Given the description of an element on the screen output the (x, y) to click on. 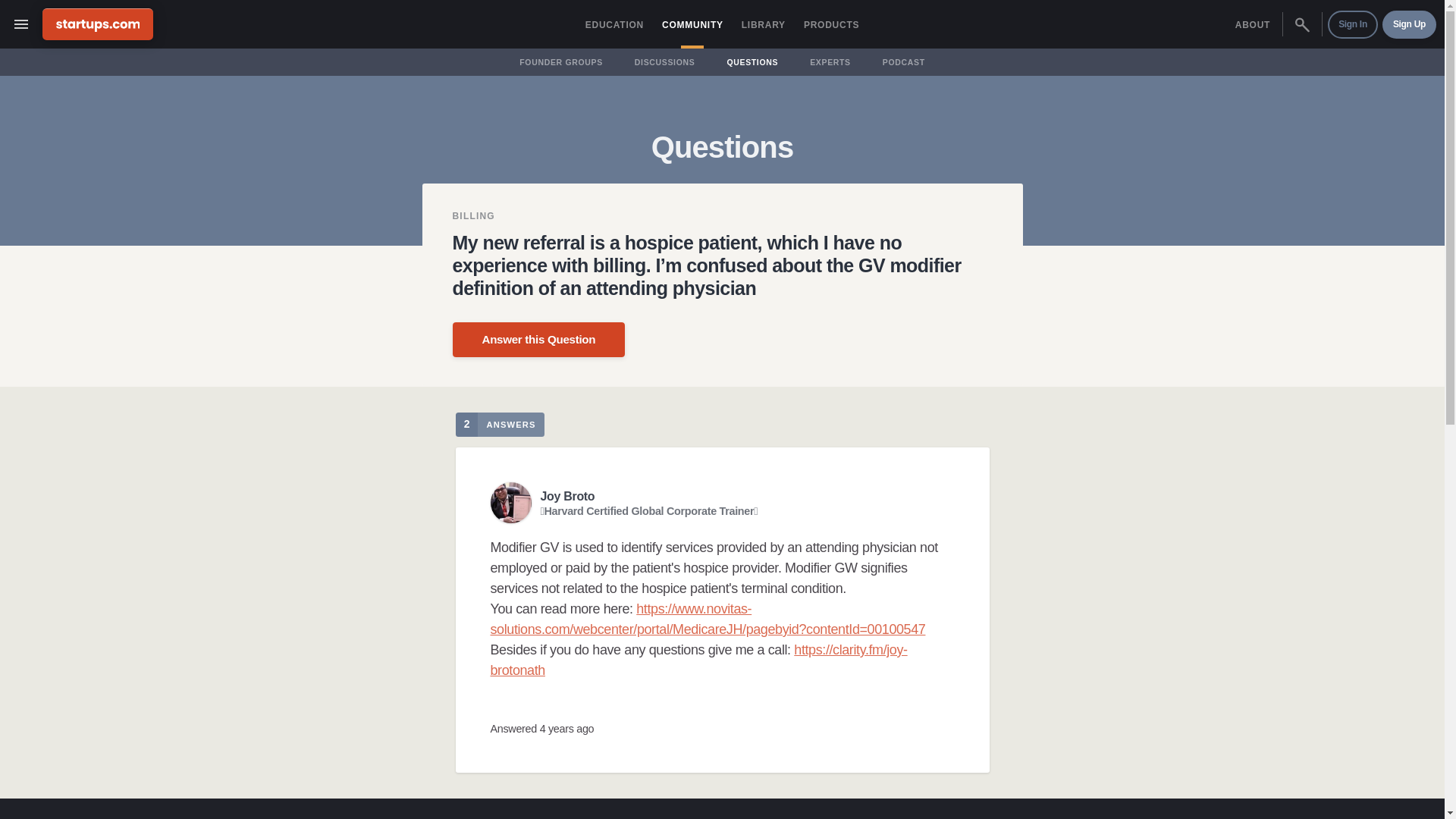
QUESTIONS (752, 62)
PODCAST (904, 62)
EXPERTS (830, 62)
Sign Up (1408, 24)
DISCUSSIONS (664, 62)
COMMUNITY (692, 24)
PRODUCTS (830, 24)
ABOUT (1252, 24)
EDUCATION (614, 24)
Photo of Joy Broto (510, 502)
